Given the description of an element on the screen output the (x, y) to click on. 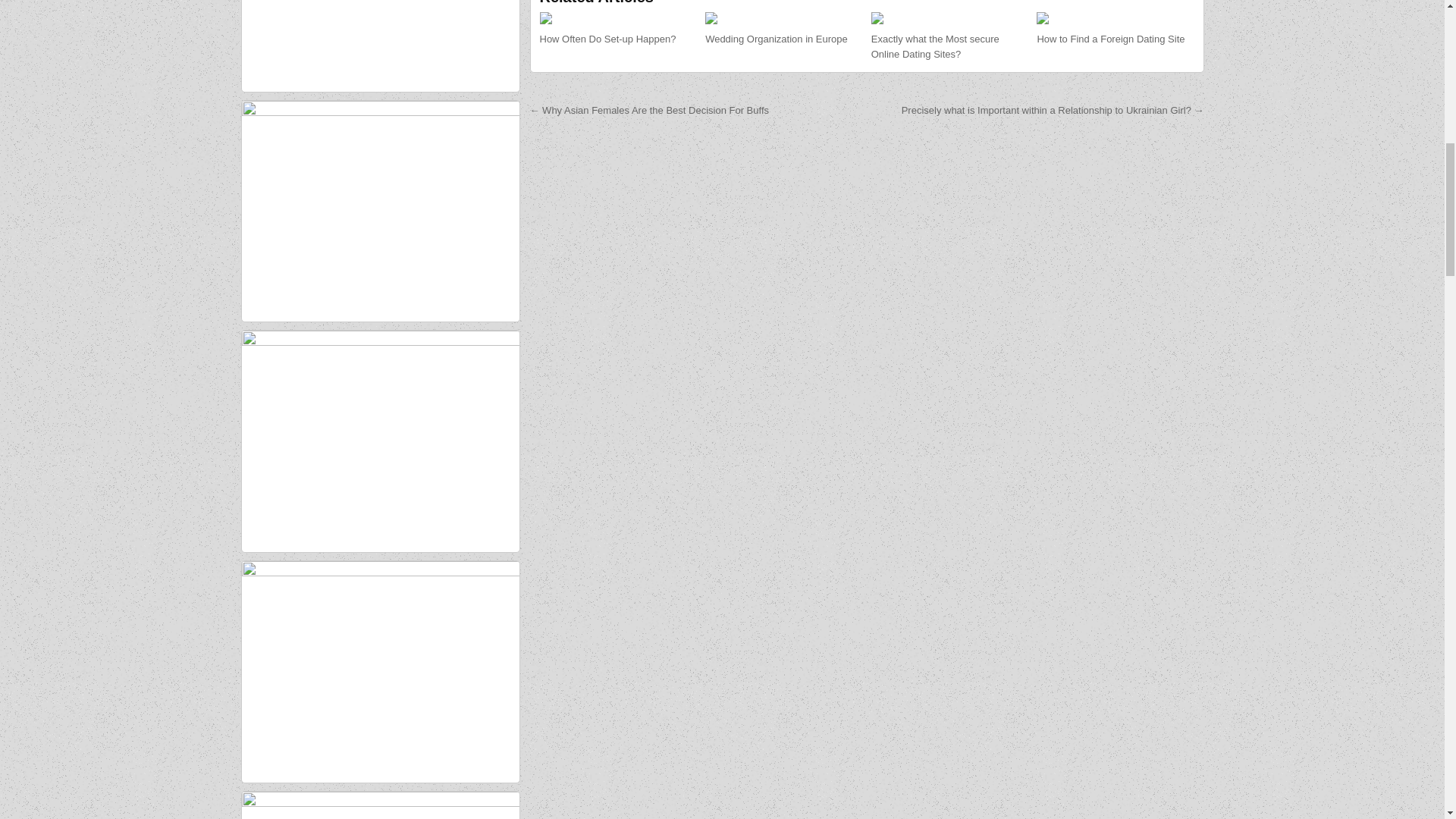
How to Find a Foreign Dating Site (1110, 39)
How Often Do Set-up Happen? (608, 39)
Permanent Link to How Often Do Set-up Happen? (608, 39)
Permanent Link to How Often Do Set-up Happen? (618, 18)
Wedding Organization in Europe (775, 39)
Exactly what the Most secure Online Dating Sites? (934, 46)
Permanent Link to How to Find a Foreign Dating Site (1114, 18)
Permanent Link to Wedding Organization in Europe (775, 39)
Permanent Link to Wedding Organization in Europe (782, 18)
